Given the description of an element on the screen output the (x, y) to click on. 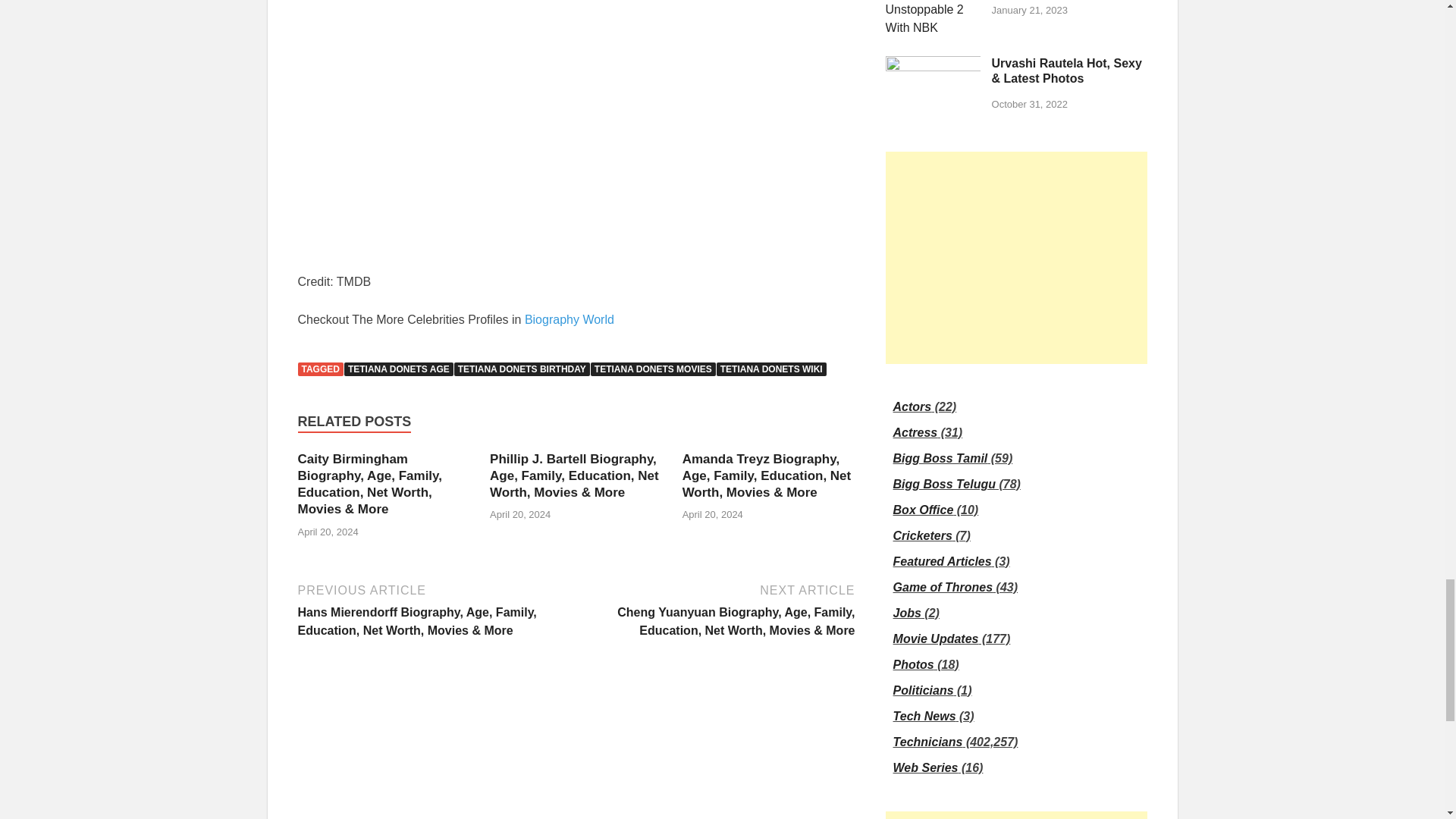
TETIANA DONETS MOVIES (653, 368)
TETIANA DONETS BIRTHDAY (521, 368)
Biography World (569, 318)
TETIANA DONETS AGE (397, 368)
